Given the description of an element on the screen output the (x, y) to click on. 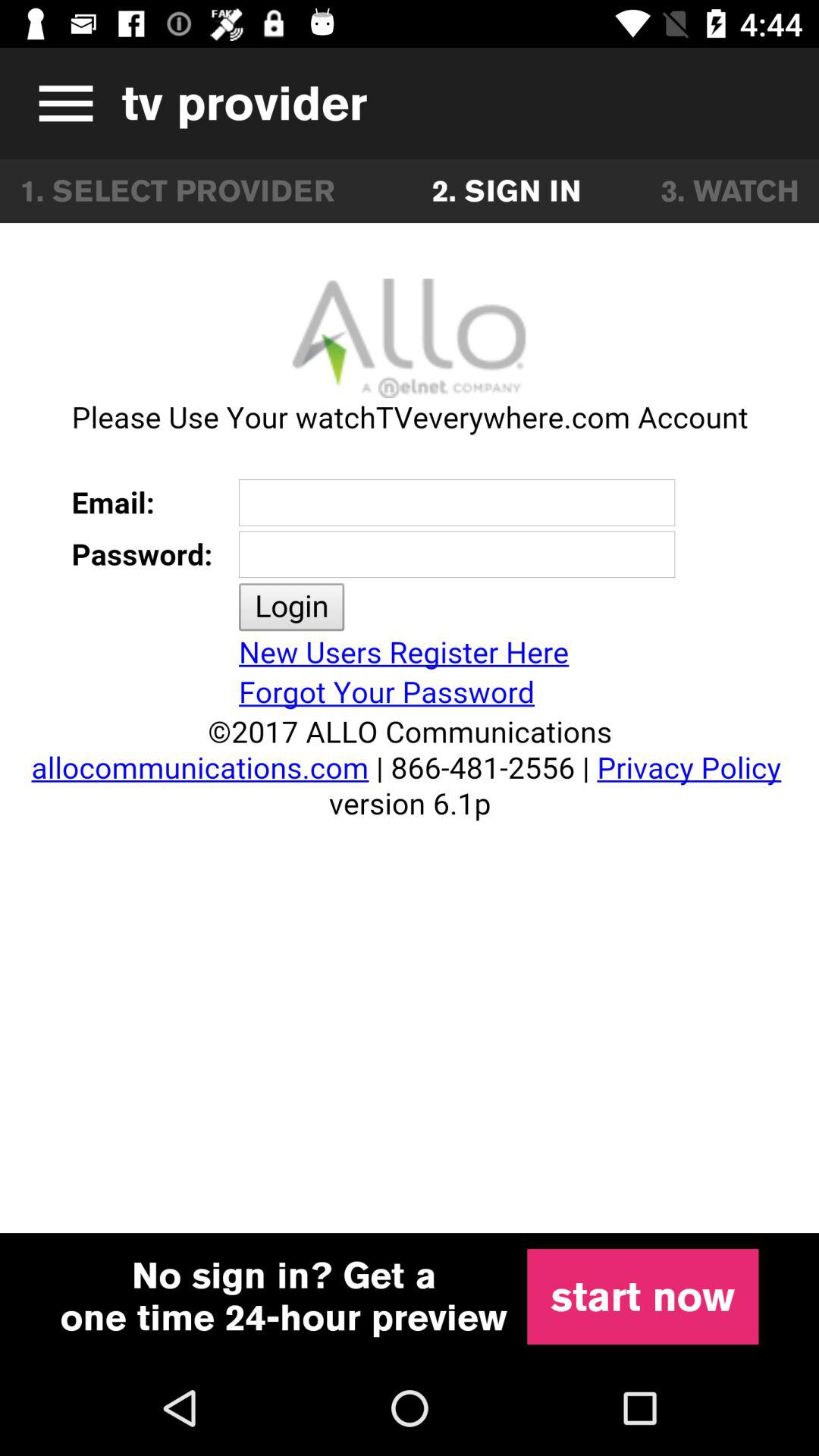
open settings (60, 103)
